Given the description of an element on the screen output the (x, y) to click on. 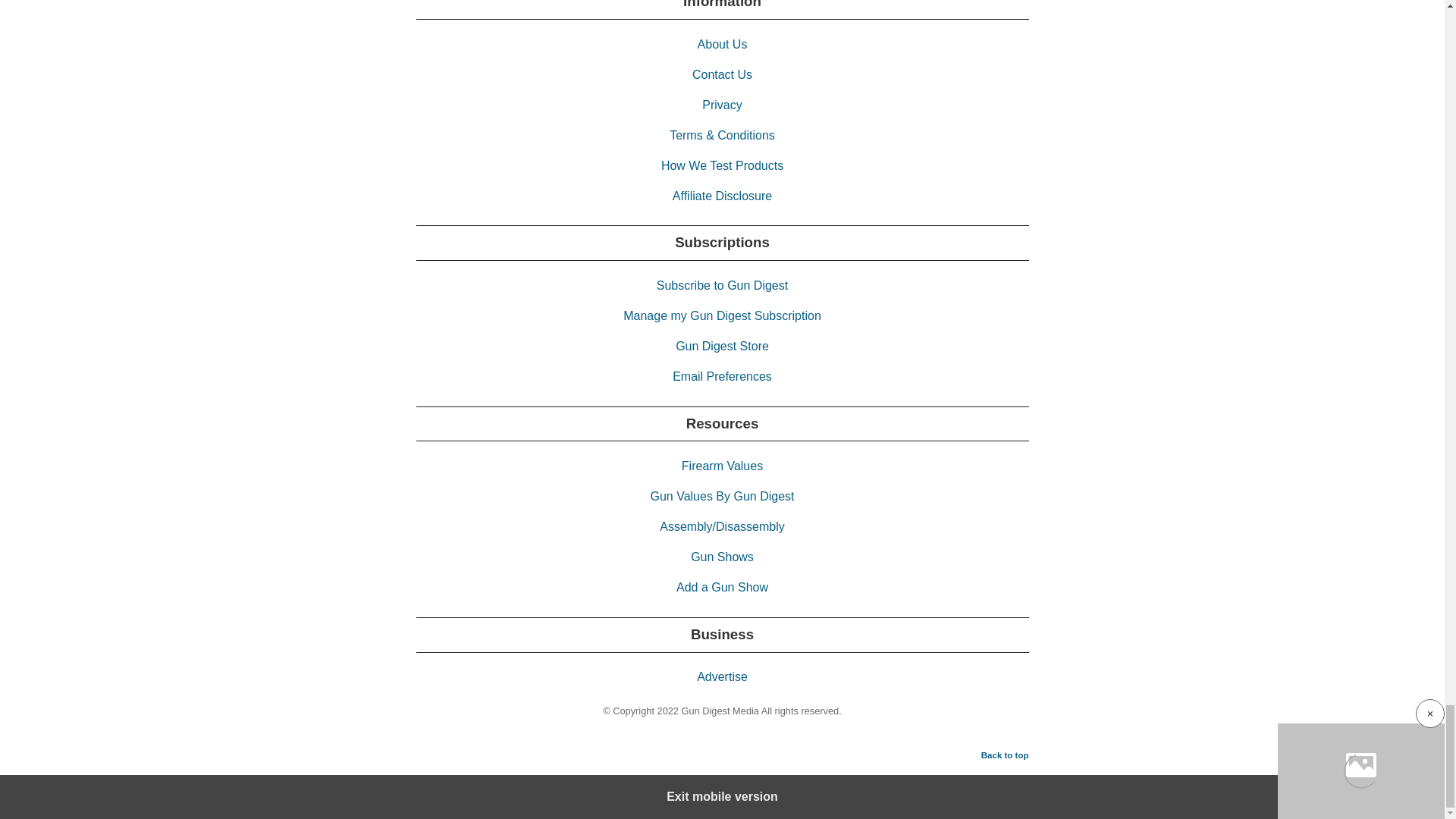
Add a Gun Show (722, 586)
Gun Digest Store (721, 345)
Advertise (722, 676)
Privacy (721, 104)
Gun Shows (722, 556)
Affiliate Disclosure (721, 195)
About Us (722, 43)
Firearm Values (721, 465)
Manage my Gun Digest Subscription (722, 315)
How We Test Products (722, 164)
